Given the description of an element on the screen output the (x, y) to click on. 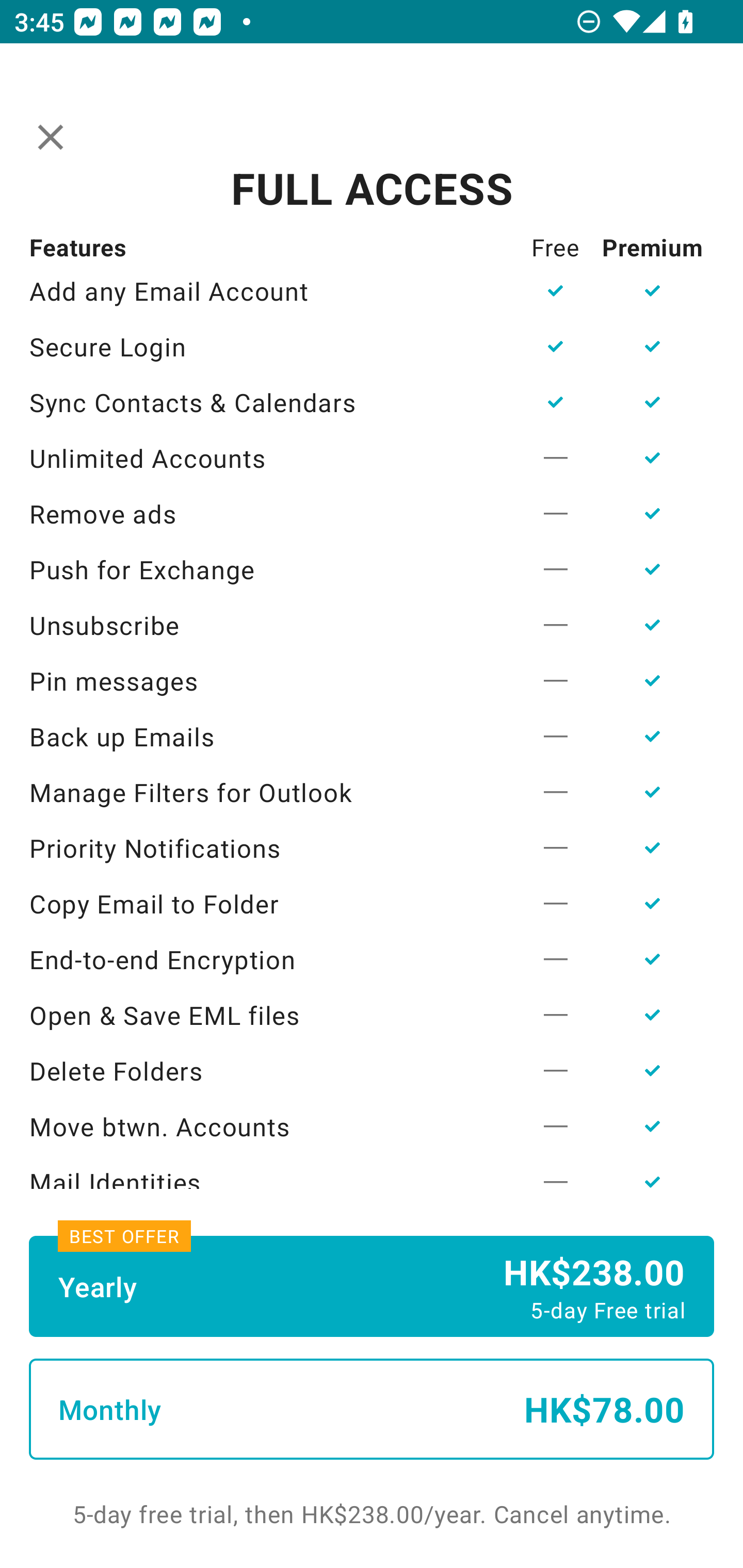
Yearly HK$238.00 5-day Free trial (371, 1286)
Monthly HK$78.00 (371, 1408)
